Given the description of an element on the screen output the (x, y) to click on. 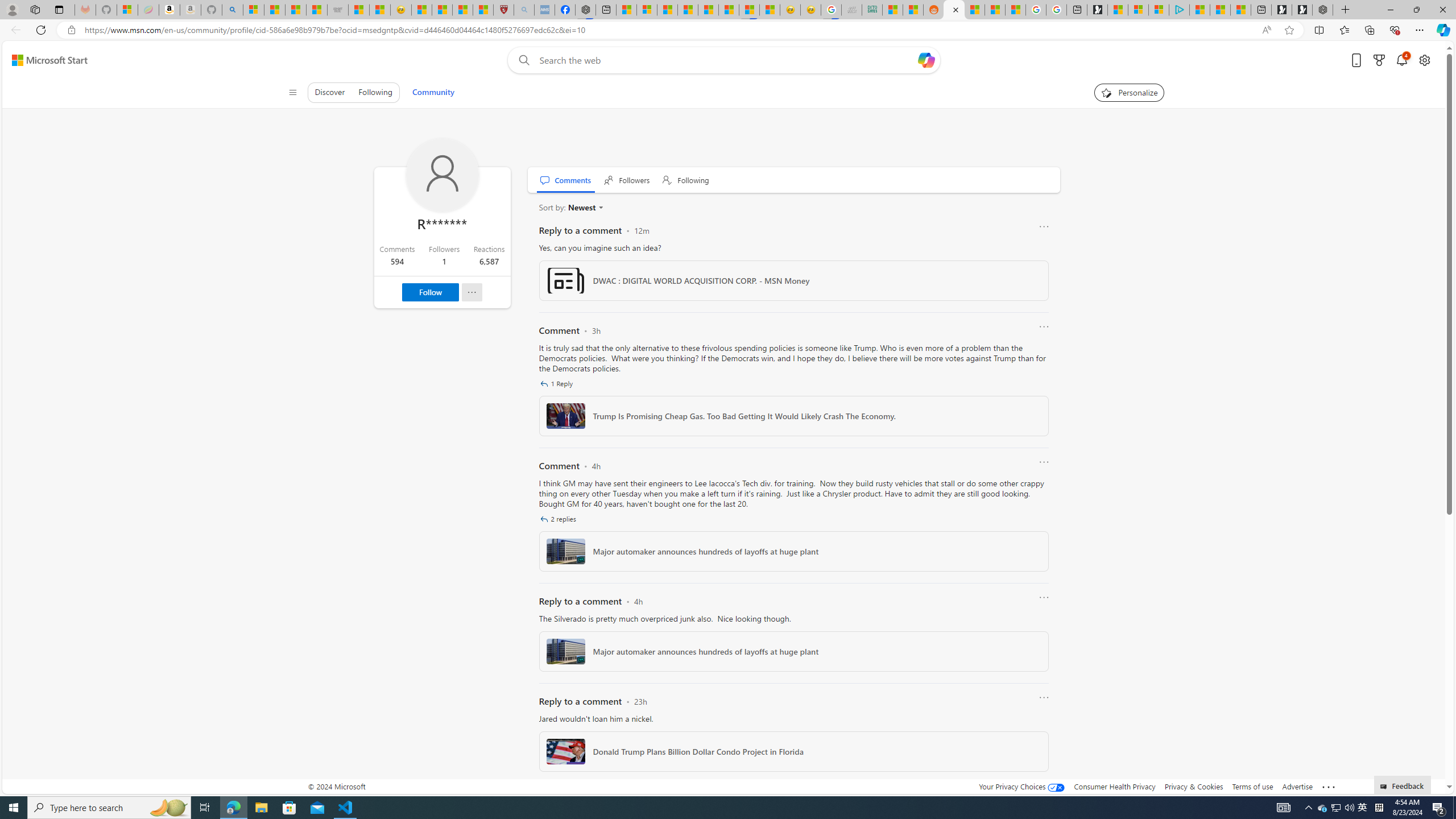
1 Reply (557, 383)
These 3 Stocks Pay You More Than 5% to Own Them (1240, 9)
